Given the description of an element on the screen output the (x, y) to click on. 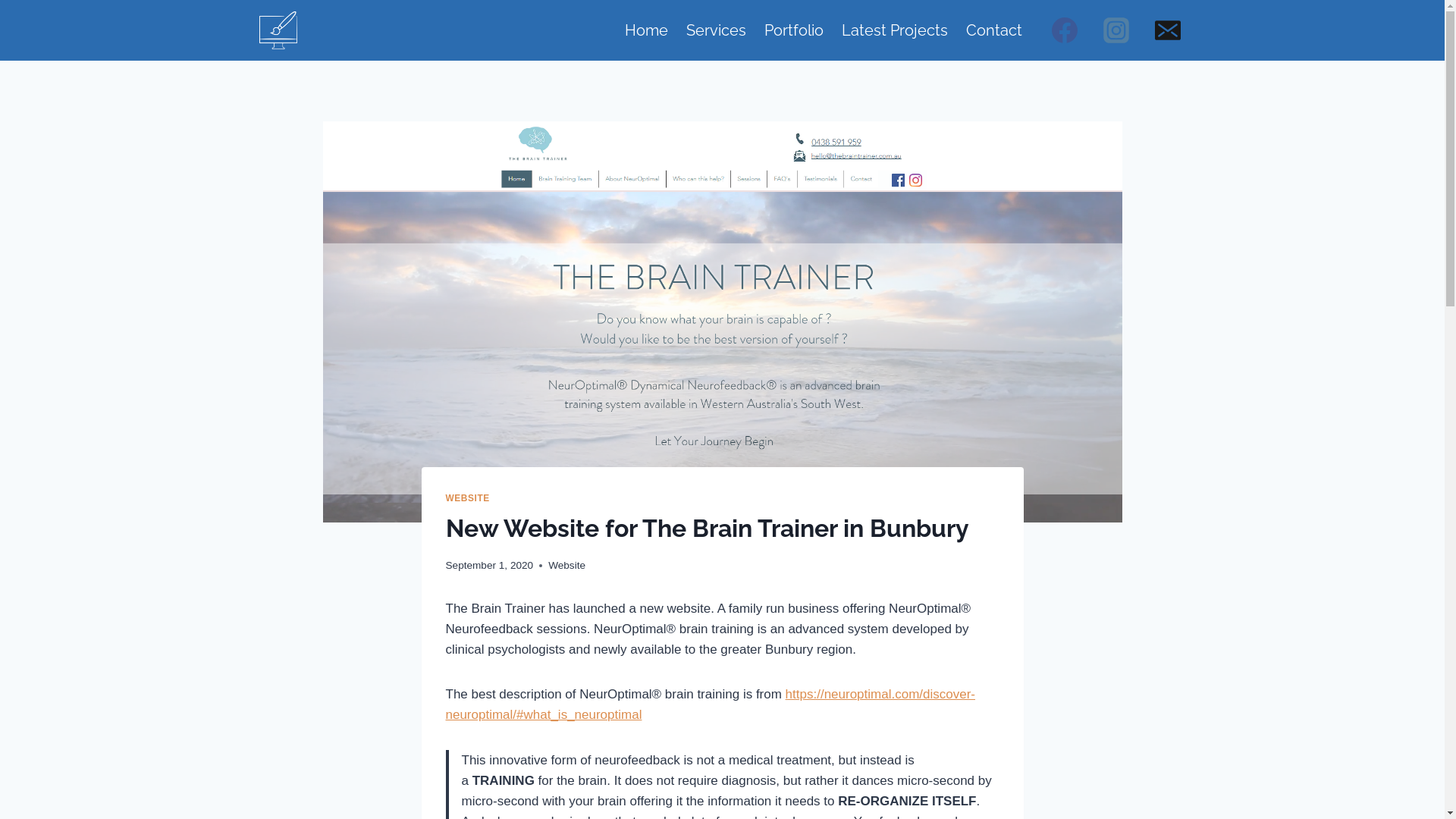
Latest Projects Element type: text (894, 30)
Contact Element type: text (994, 30)
WEBSITE Element type: text (467, 497)
Website Element type: text (566, 565)
Services Element type: text (715, 30)
Home Element type: text (646, 30)
Portfolio Element type: text (793, 30)
